Given the description of an element on the screen output the (x, y) to click on. 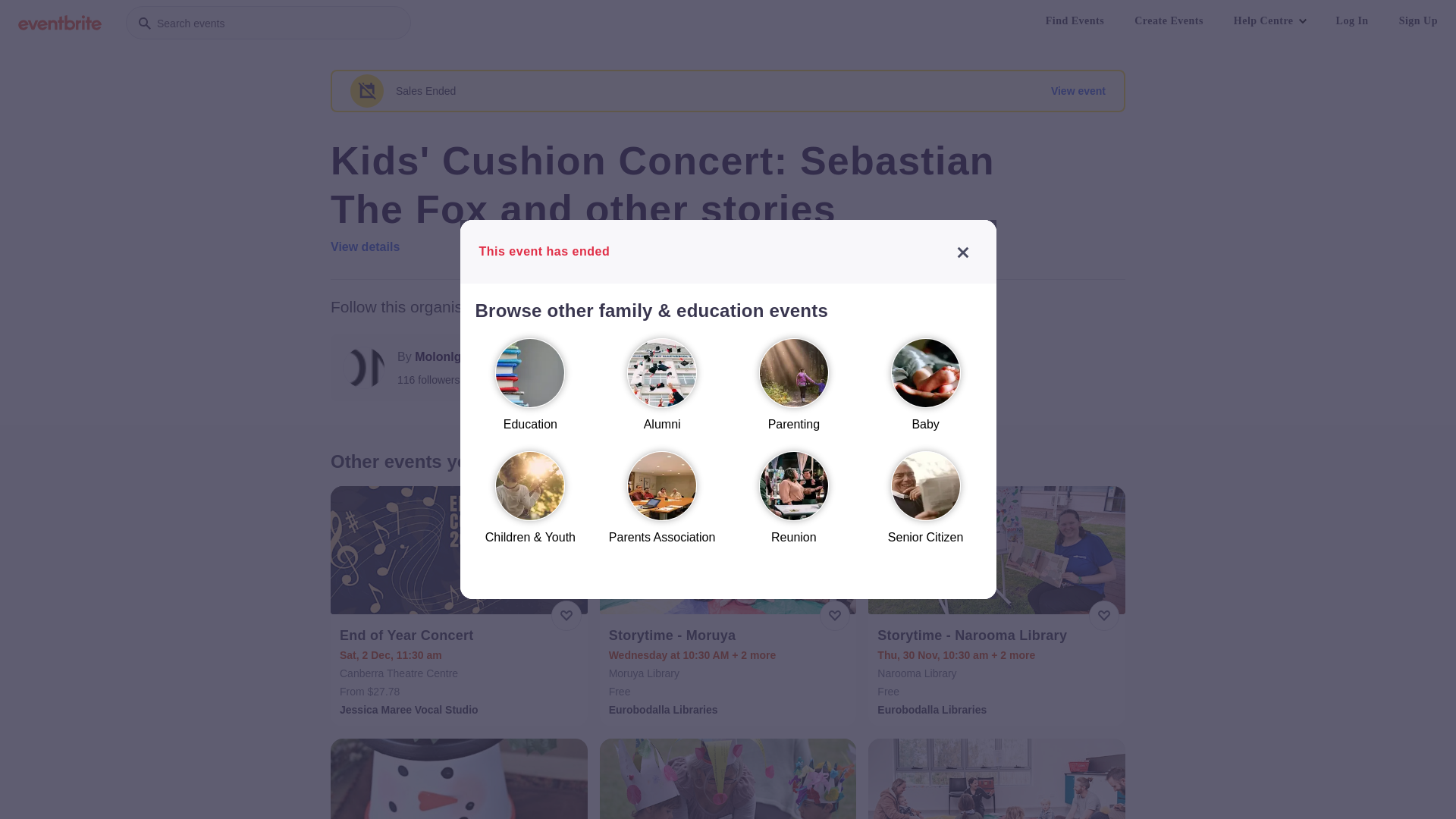
Storytime - Narooma Library Element type: text (998, 635)
Education Element type: text (530, 391)
Parents Association Element type: text (661, 504)
Reunion Element type: text (793, 504)
Sign Up Element type: text (1417, 21)
Follow Element type: text (592, 367)
End of Year Concert Element type: text (460, 635)
Alumni Element type: text (661, 391)
Children & Youth Element type: text (530, 504)
Eventbrite Element type: hover (59, 22)
Parenting Element type: text (793, 391)
Find Events Element type: text (1074, 21)
Storytime - Moruya Element type: text (729, 635)
Baby Element type: text (925, 391)
View event Element type: text (1078, 90)
Search events Element type: text (268, 22)
Senior Citizen Element type: text (925, 504)
View details Element type: text (364, 246)
Log In Element type: text (1352, 21)
Create Events Element type: text (1168, 21)
